Given the description of an element on the screen output the (x, y) to click on. 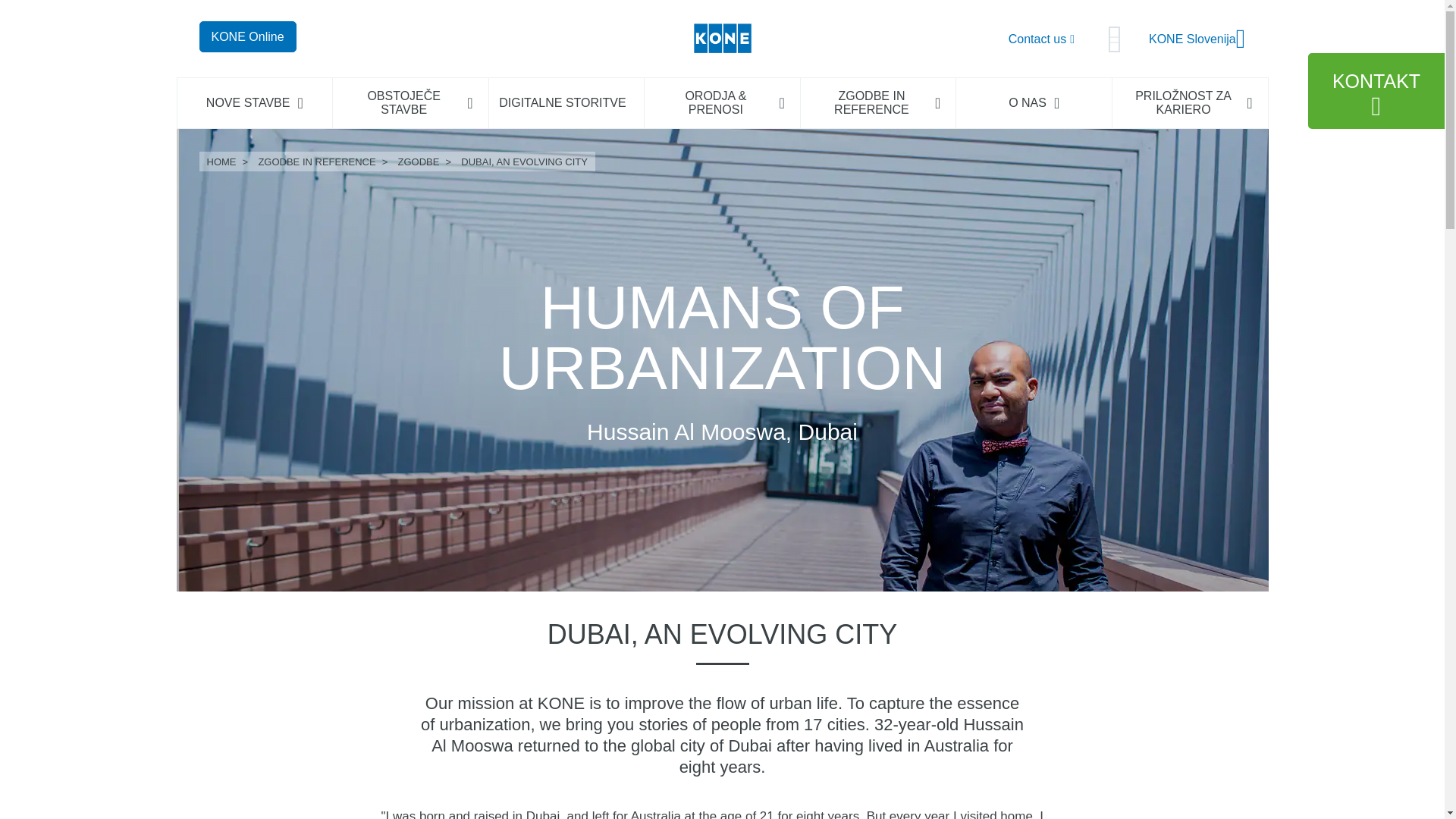
Contact us (1041, 38)
NOVE STAVBE (254, 102)
KONE Online (1197, 38)
